Given the description of an element on the screen output the (x, y) to click on. 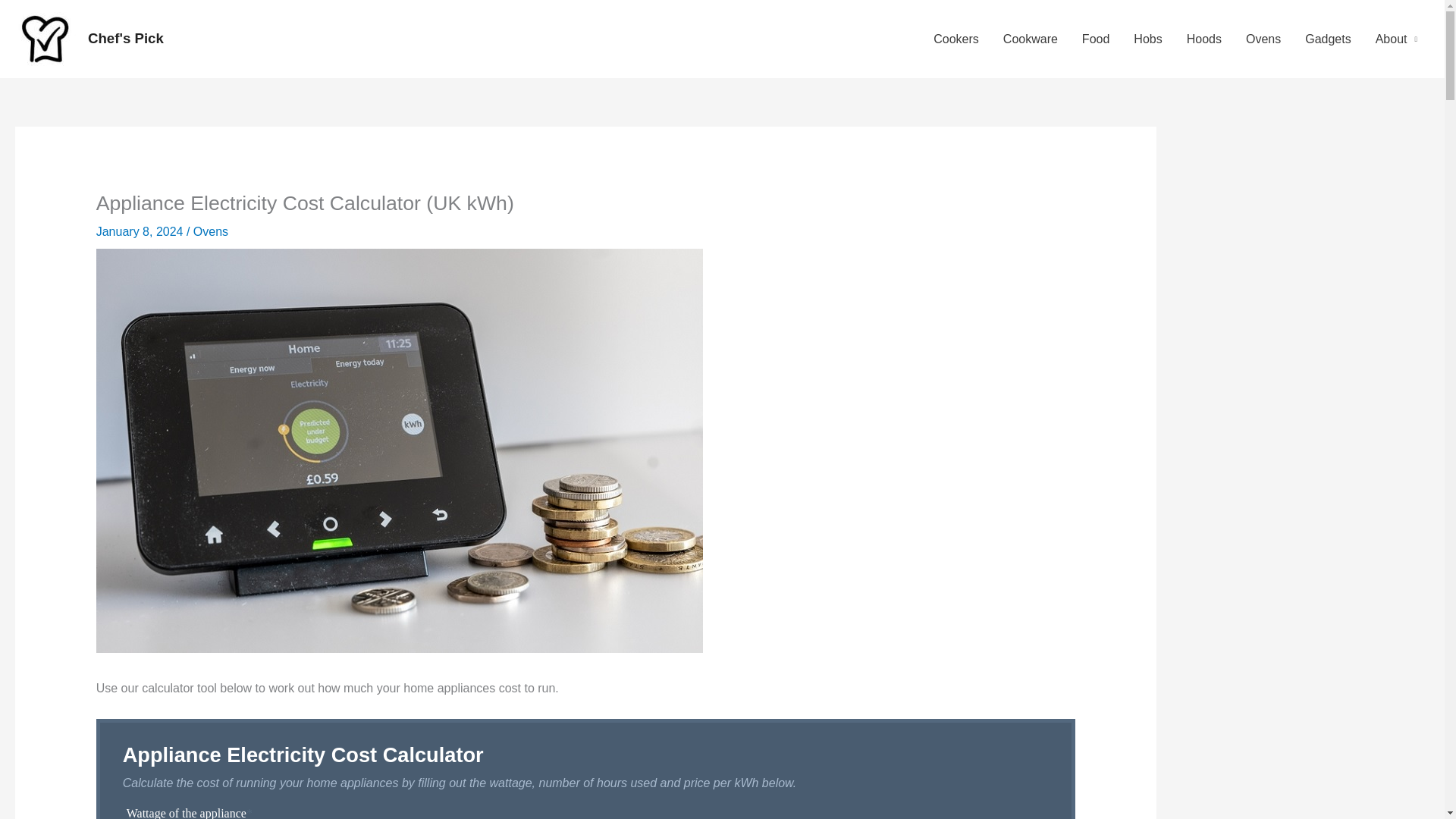
Hobs (1147, 39)
Gadgets (1327, 39)
Chef's Pick (125, 37)
Hoods (1203, 39)
Food (1095, 39)
Ovens (210, 231)
Cookware (1030, 39)
Cookers (956, 39)
Ovens (1262, 39)
About (1395, 39)
